Given the description of an element on the screen output the (x, y) to click on. 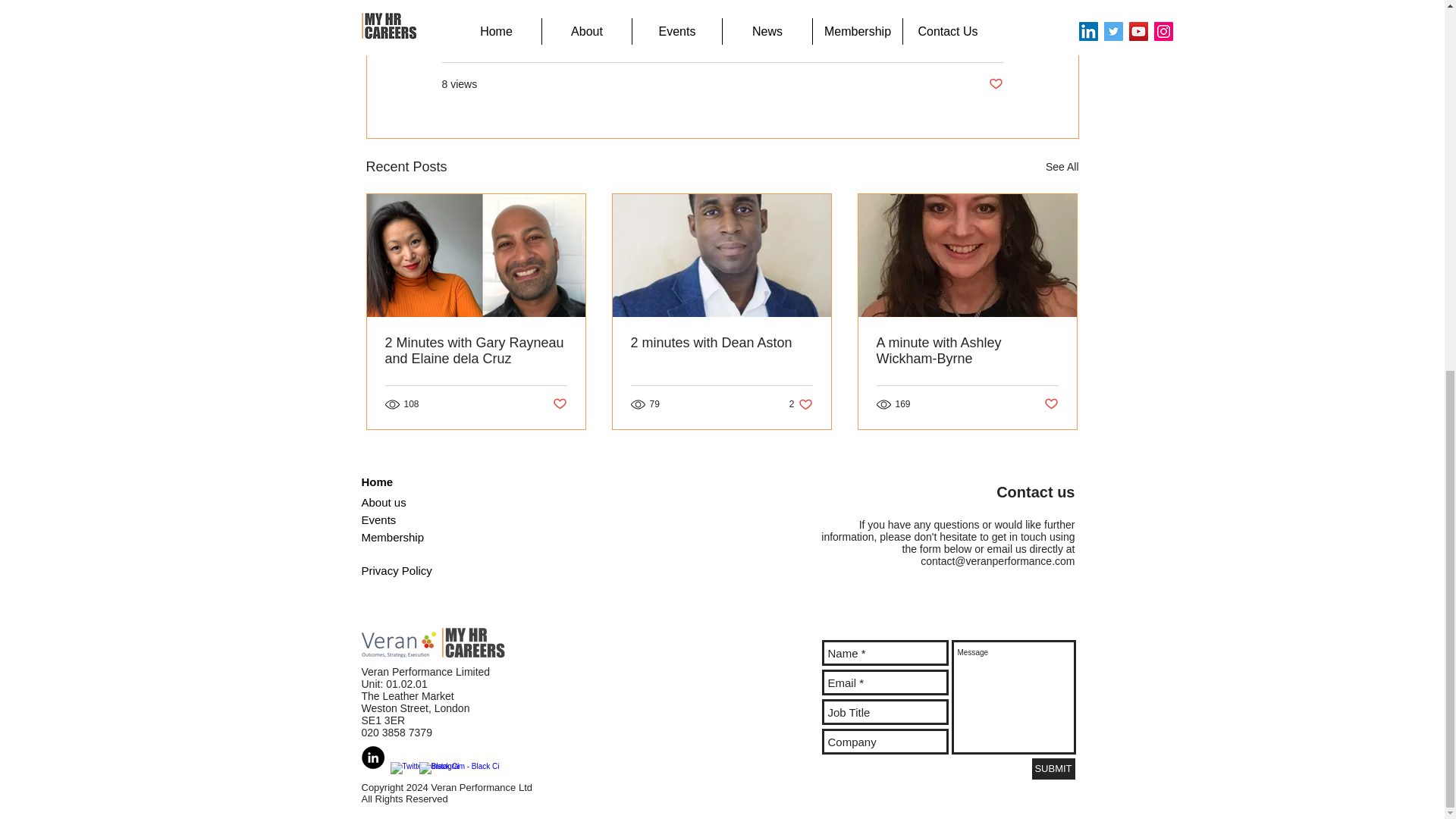
2 Minutes with Gary Rayneau and Elaine dela Cruz (476, 350)
A minute with Ashley Wickham-Byrne (967, 350)
Home (377, 481)
Interviews (979, 39)
Post not marked as liked (995, 84)
Events (378, 519)
2 minutes with Dean Aston (721, 342)
Membership (392, 536)
Post not marked as liked (1050, 403)
Post not marked as liked (558, 403)
